Given the description of an element on the screen output the (x, y) to click on. 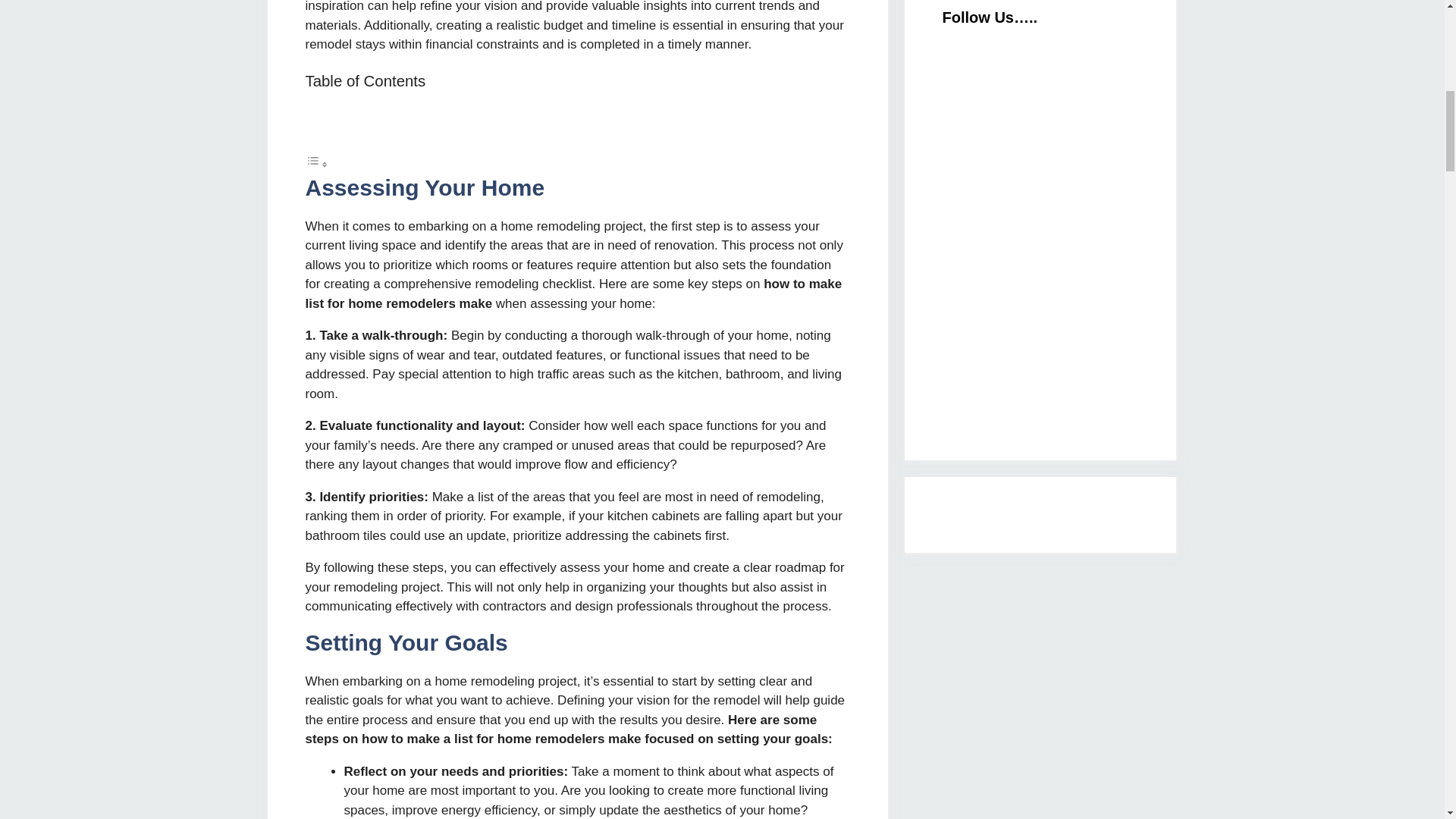
Email (1055, 108)
